Given the description of an element on the screen output the (x, y) to click on. 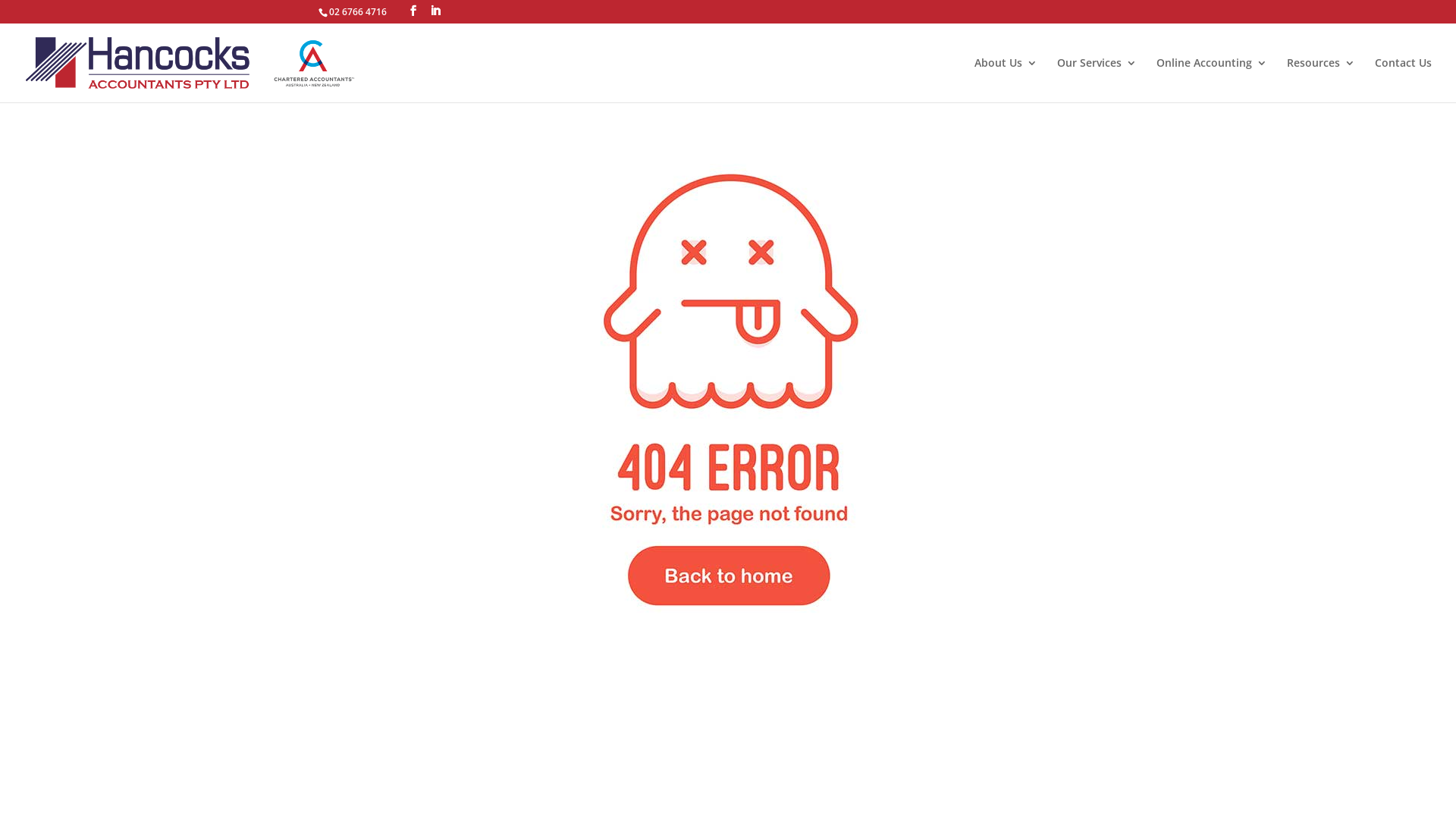
Resources Element type: text (1320, 79)
Our Services Element type: text (1096, 79)
Online Accounting Element type: text (1211, 79)
Contact Us Element type: text (1402, 79)
About Us Element type: text (1005, 79)
02 6766 4716 Element type: text (357, 11)
